Given the description of an element on the screen output the (x, y) to click on. 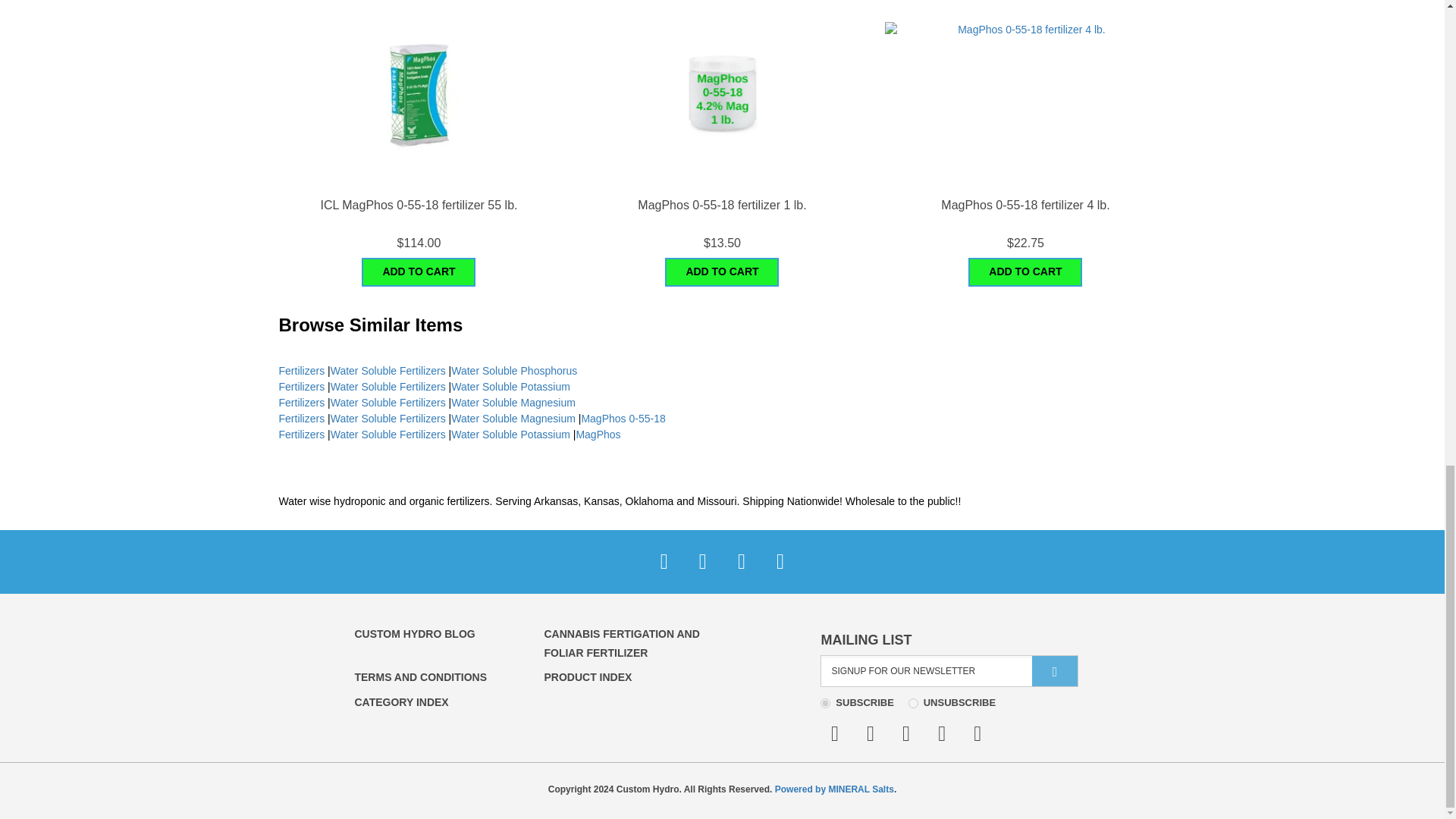
Follow Us on Twitter (702, 561)
Subscribe to our Channel (740, 561)
Follow Us on Instagram (779, 561)
0 (913, 703)
Subscribe to our Blog (663, 561)
1 (825, 703)
